Given the description of an element on the screen output the (x, y) to click on. 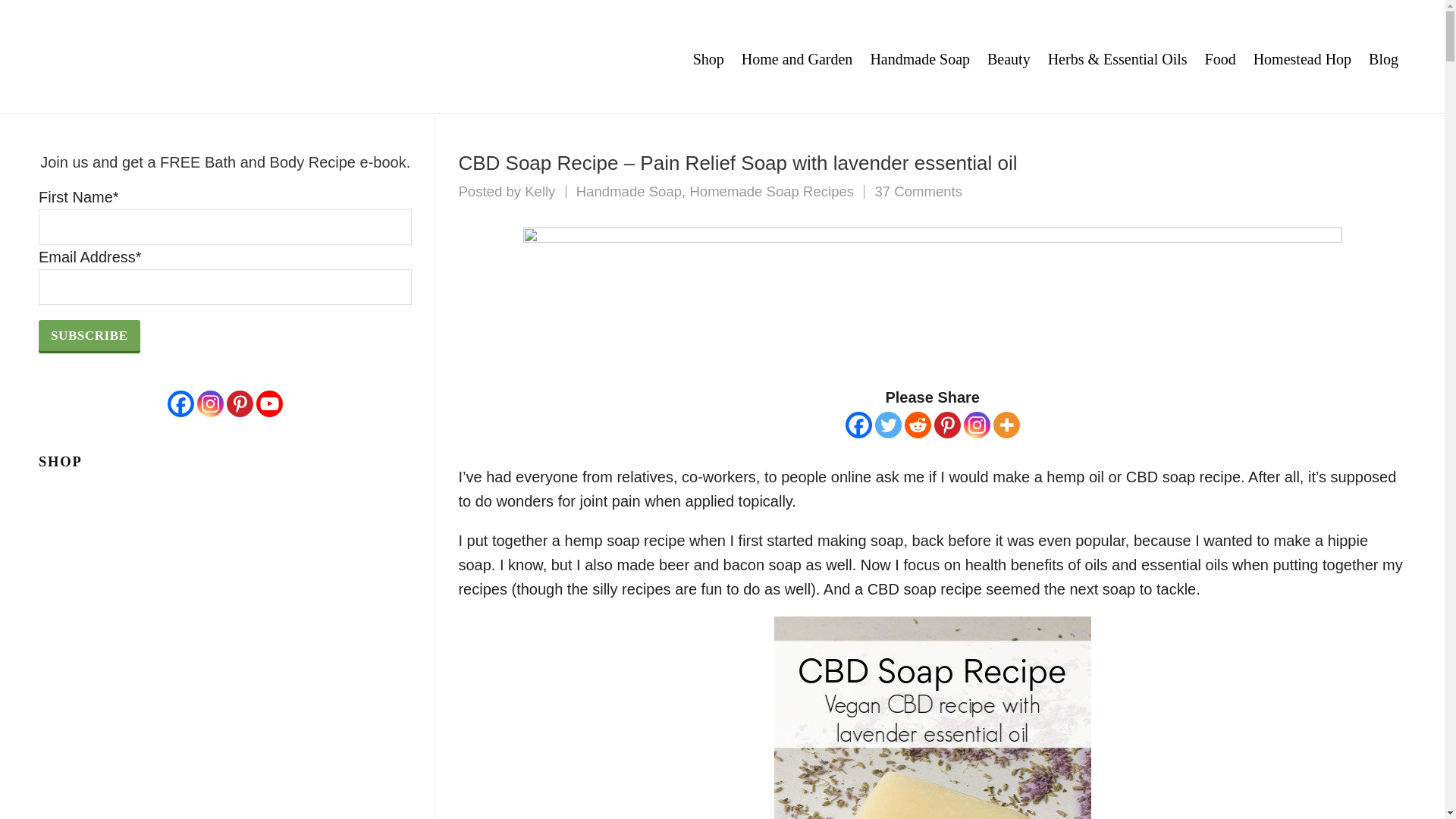
37 Comments (918, 191)
More (1006, 424)
Subscribe (89, 335)
Kelly (539, 191)
Instagram (976, 424)
Pinterest (947, 424)
Twitter (888, 424)
Reddit (917, 424)
Homestead Hop (1301, 56)
Home and Garden (797, 56)
